Given the description of an element on the screen output the (x, y) to click on. 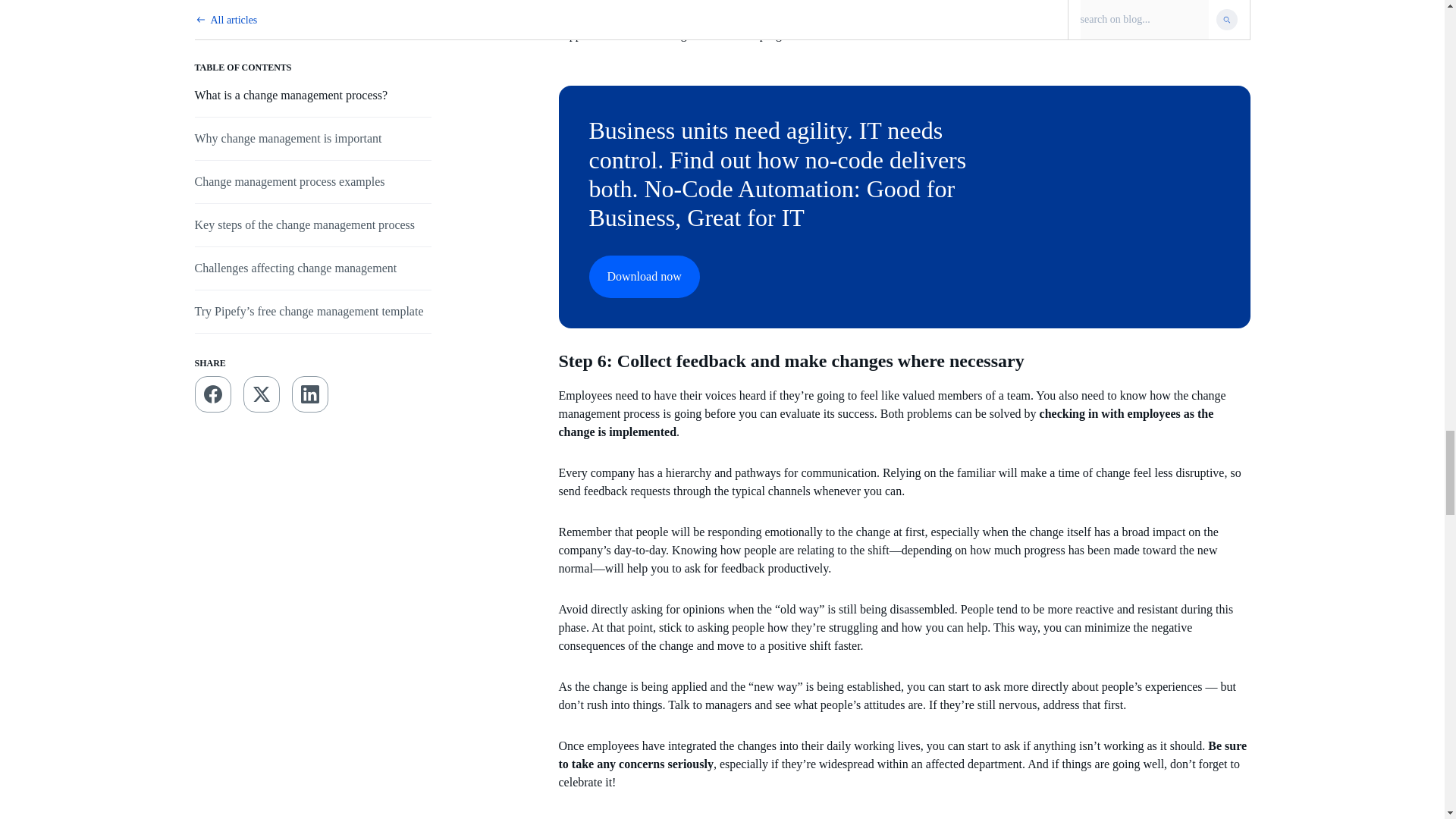
Download now (643, 276)
